Given the description of an element on the screen output the (x, y) to click on. 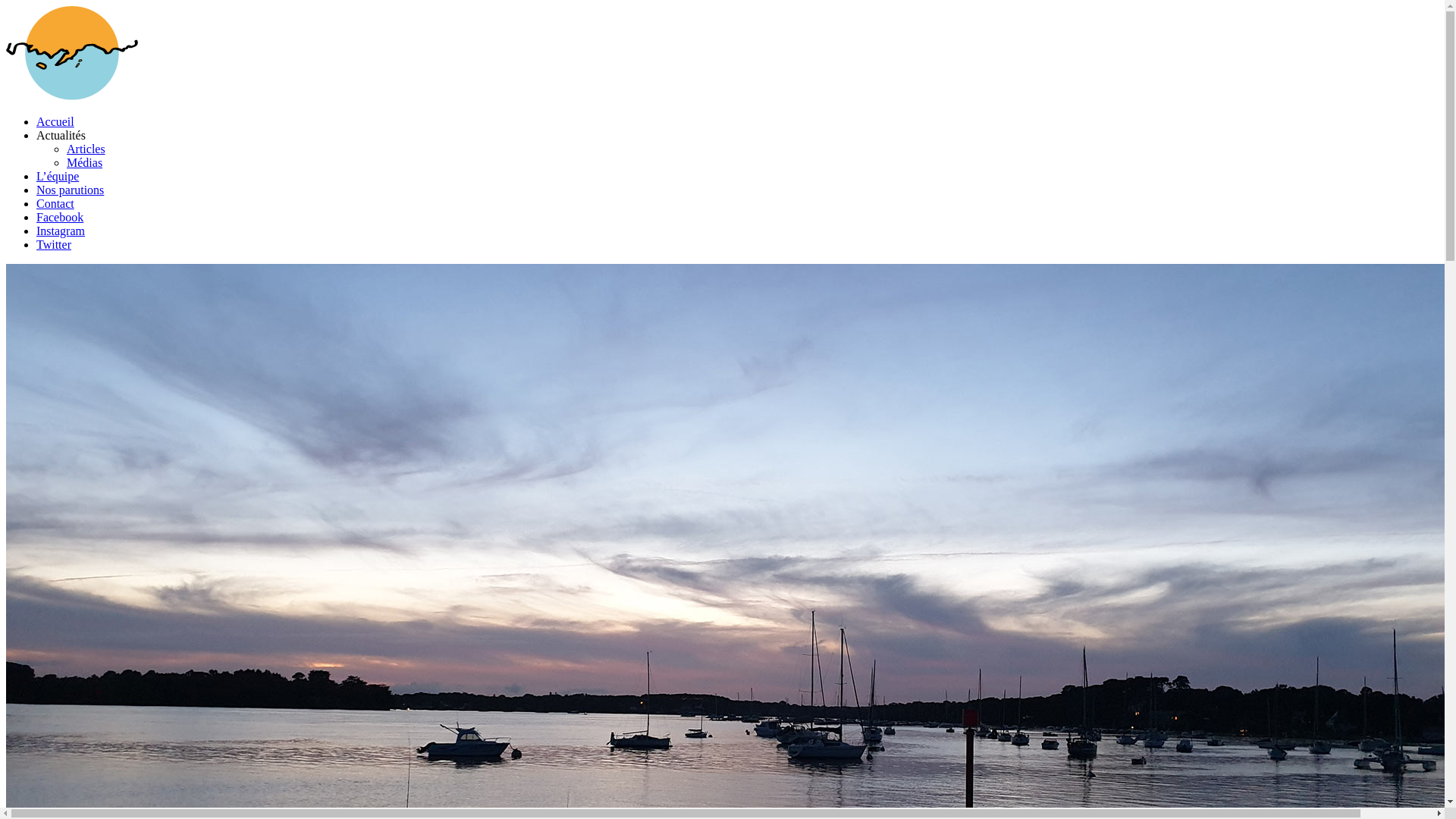
Nos parutions Element type: text (69, 189)
Twitter Element type: text (53, 244)
Contact Element type: text (55, 203)
Facebook Element type: text (59, 216)
Accueil Element type: text (55, 121)
Articles Element type: text (85, 148)
Instagram Element type: text (60, 230)
